Given the description of an element on the screen output the (x, y) to click on. 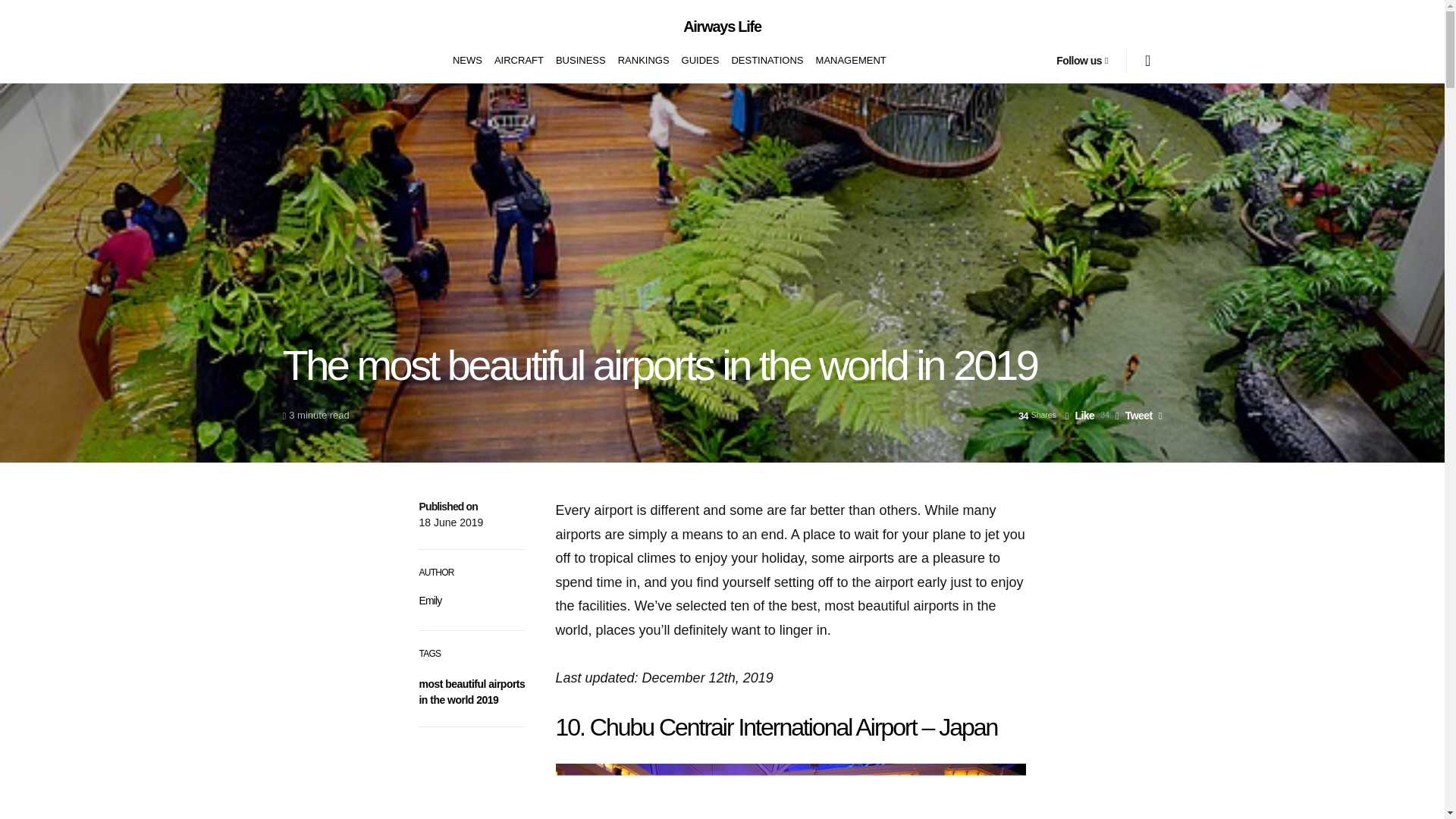
DESTINATIONS (767, 60)
Tweet (1134, 415)
most beautiful airports in the world 2019 (471, 691)
BUSINESS (580, 60)
AIRCRAFT (518, 60)
Airways Life (721, 26)
RANKINGS (643, 60)
Emily (430, 600)
MANAGEMENT (847, 60)
GUIDES (700, 60)
